Given the description of an element on the screen output the (x, y) to click on. 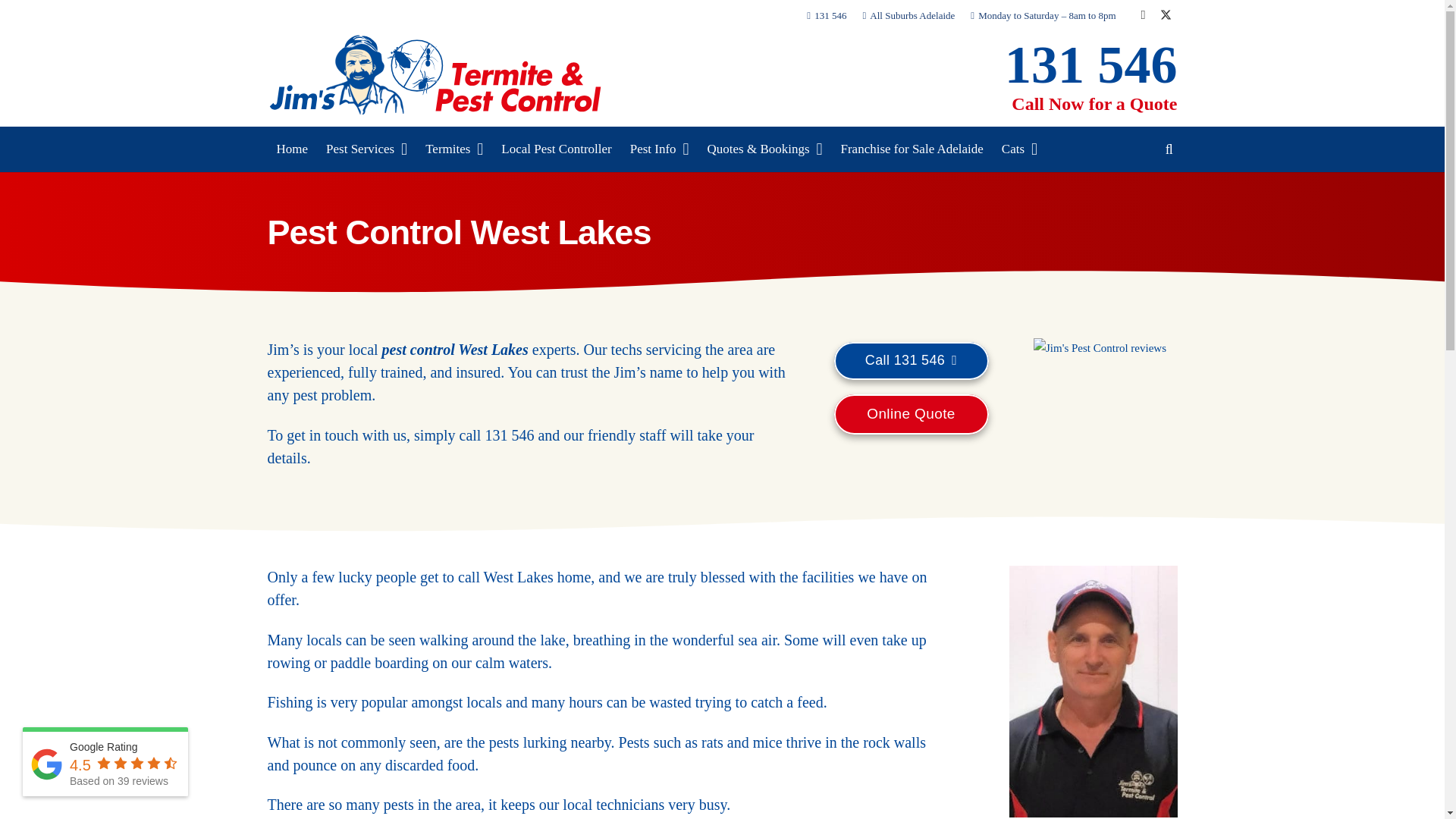
Pest Services (366, 148)
Free Quote (911, 413)
Instagram (1142, 15)
131 546 (1090, 64)
Call 131 546 (911, 360)
Home (291, 148)
Twitter (1165, 15)
